Given the description of an element on the screen output the (x, y) to click on. 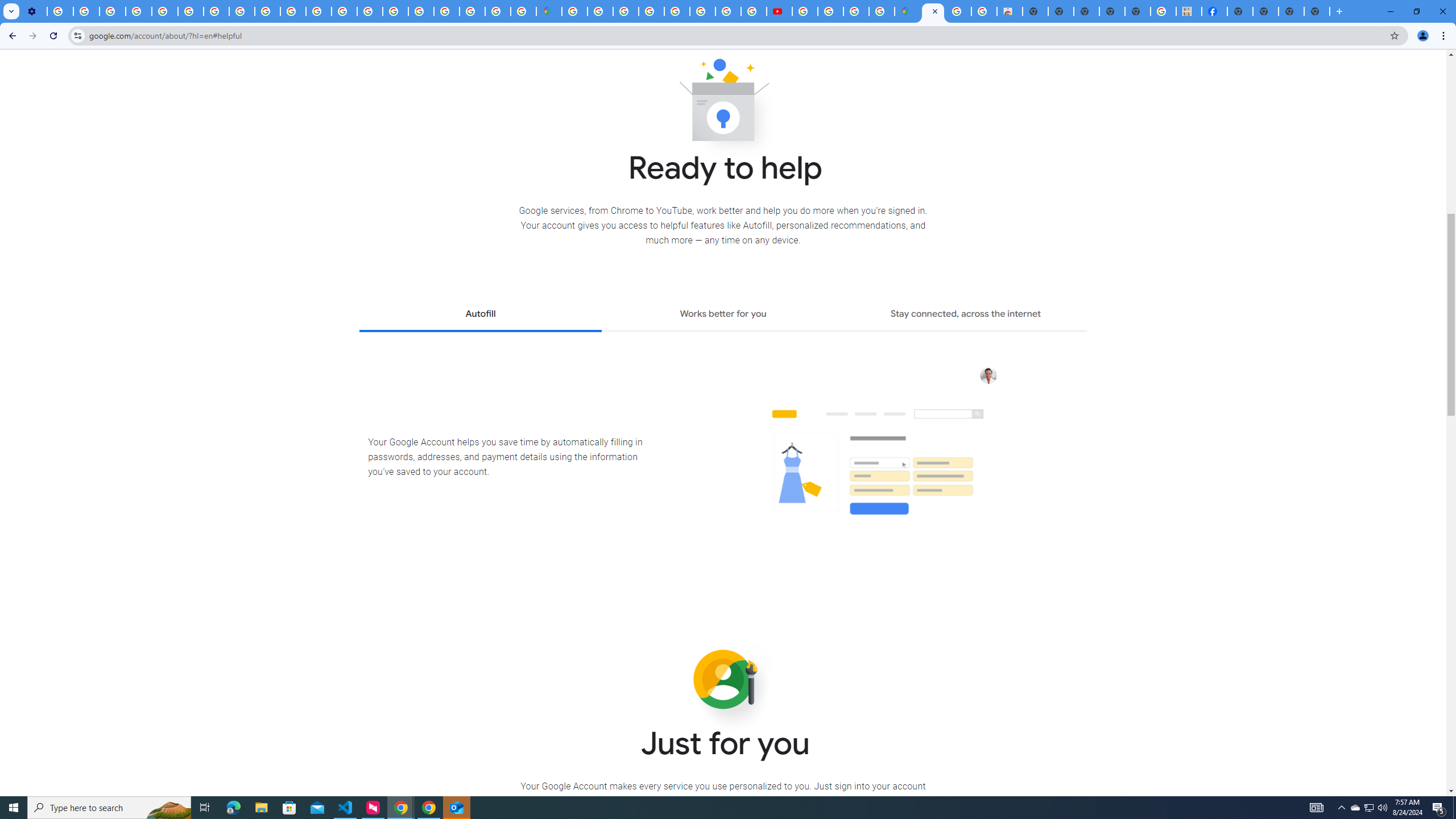
Privacy Checkup (266, 11)
